Given the description of an element on the screen output the (x, y) to click on. 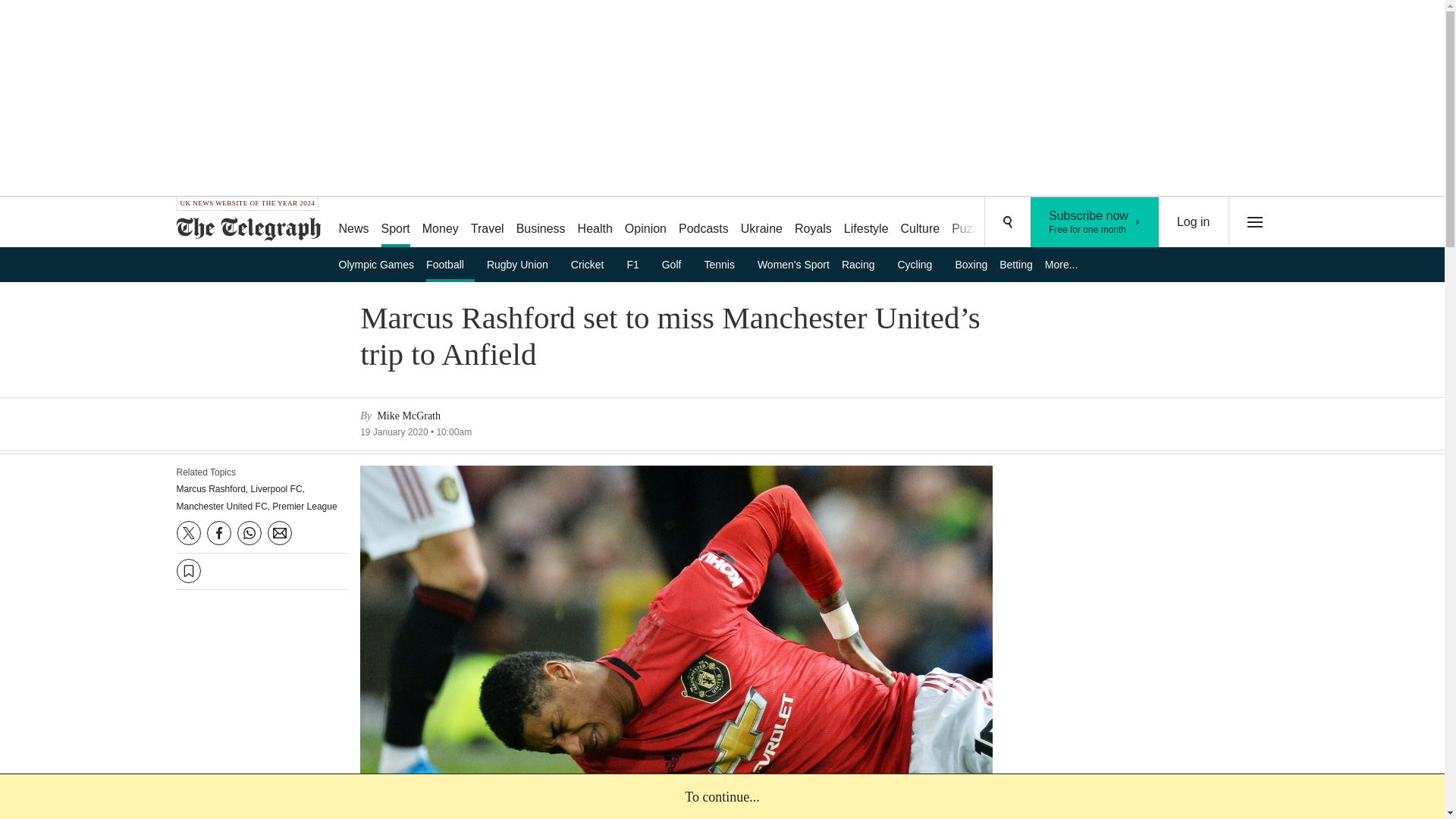
Travel (487, 223)
F1 (637, 264)
Money (440, 223)
Puzzles (972, 223)
Lifestyle (866, 223)
Business (541, 223)
Culture (920, 223)
Ukraine (762, 223)
Royals (813, 223)
Log in (1193, 222)
Football (450, 264)
Cricket (592, 264)
Opinion (645, 223)
Olympic Games (1094, 222)
